Given the description of an element on the screen output the (x, y) to click on. 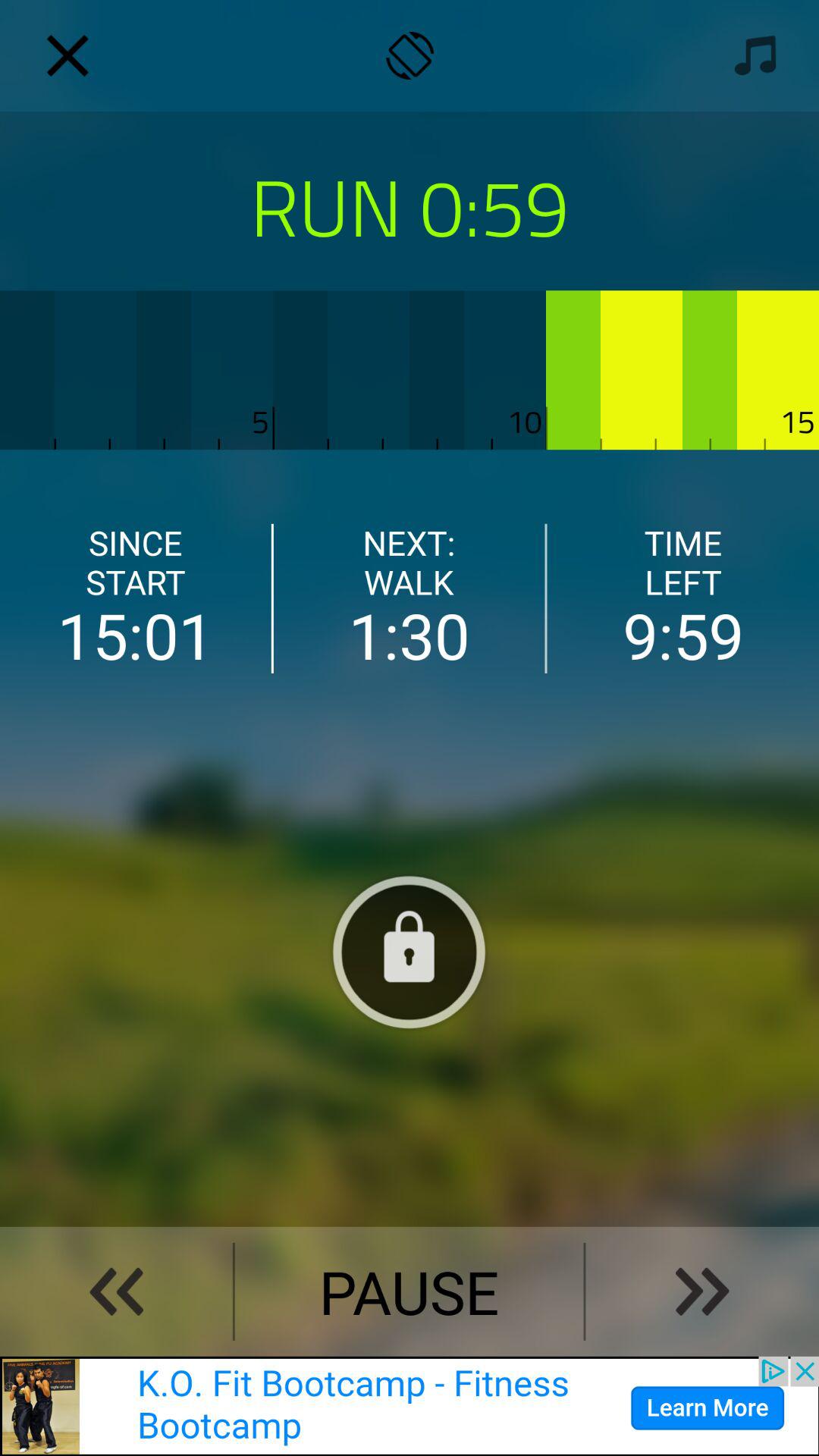
back (116, 1291)
